Given the description of an element on the screen output the (x, y) to click on. 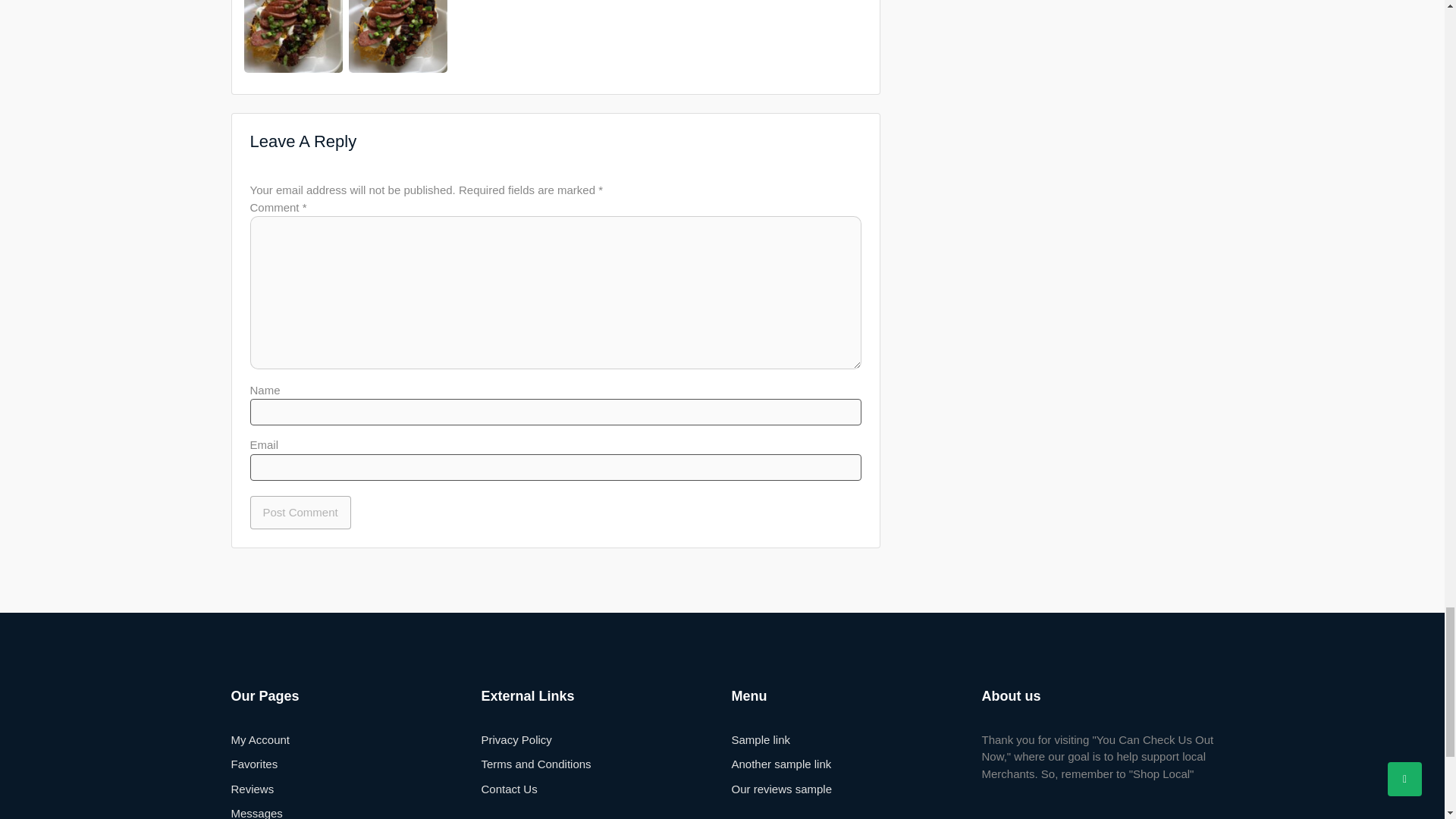
Post Comment (300, 512)
Post Comment (300, 512)
